Given the description of an element on the screen output the (x, y) to click on. 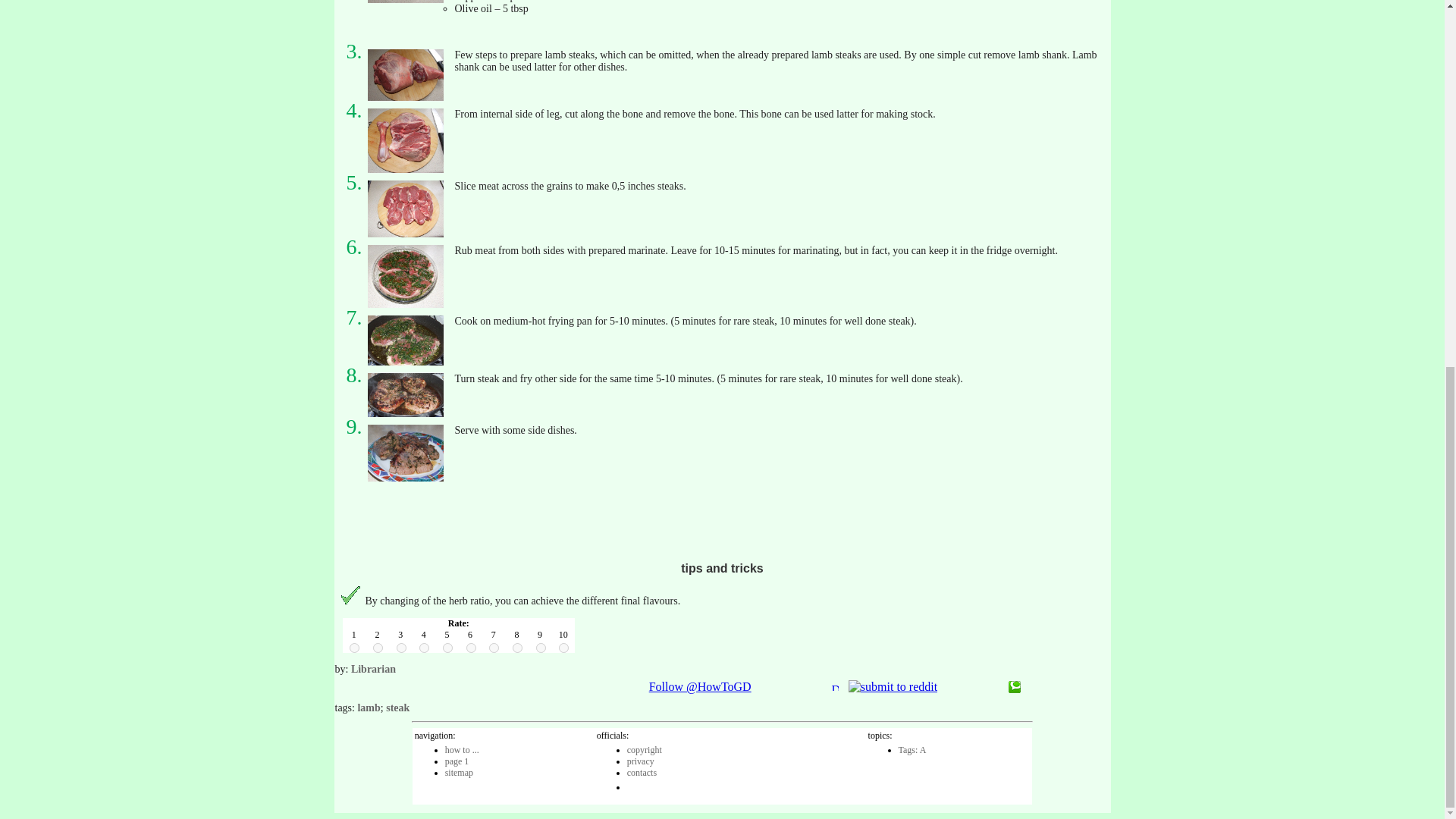
7 (494, 647)
Submit this to Reddit (892, 686)
LiveInternet: number of visitors for today is shown (660, 784)
how to ... (462, 749)
Librarian (373, 668)
1 (354, 647)
Twitter For Websites: Tweet Button (566, 687)
3 (401, 647)
lamb (368, 707)
privacy (640, 760)
copyright (644, 749)
5 (447, 647)
6 (470, 647)
steak (397, 707)
page 1 (456, 760)
